Given the description of an element on the screen output the (x, y) to click on. 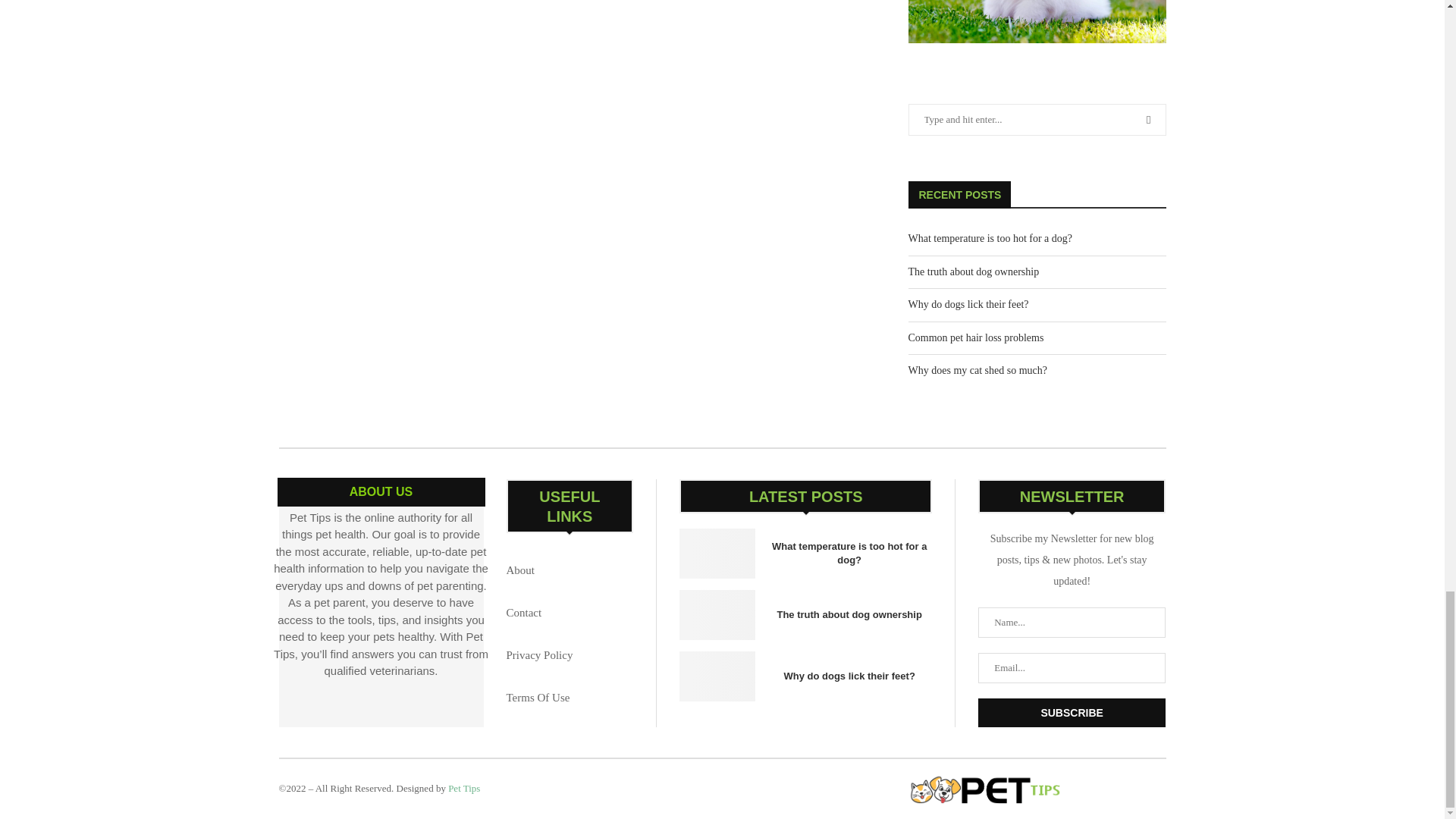
Subscribe (1072, 712)
